Given the description of an element on the screen output the (x, y) to click on. 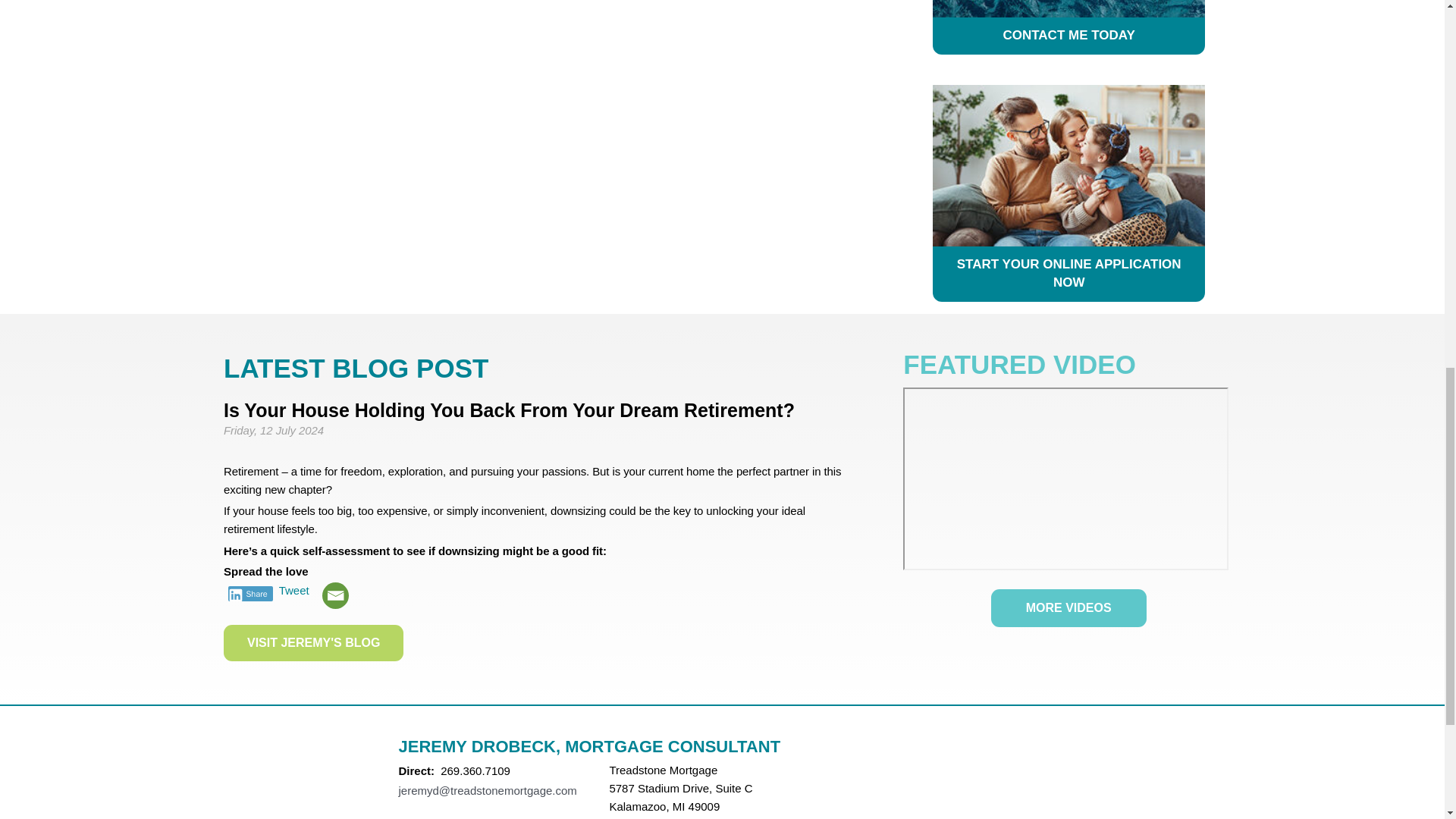
Email (335, 595)
